Given the description of an element on the screen output the (x, y) to click on. 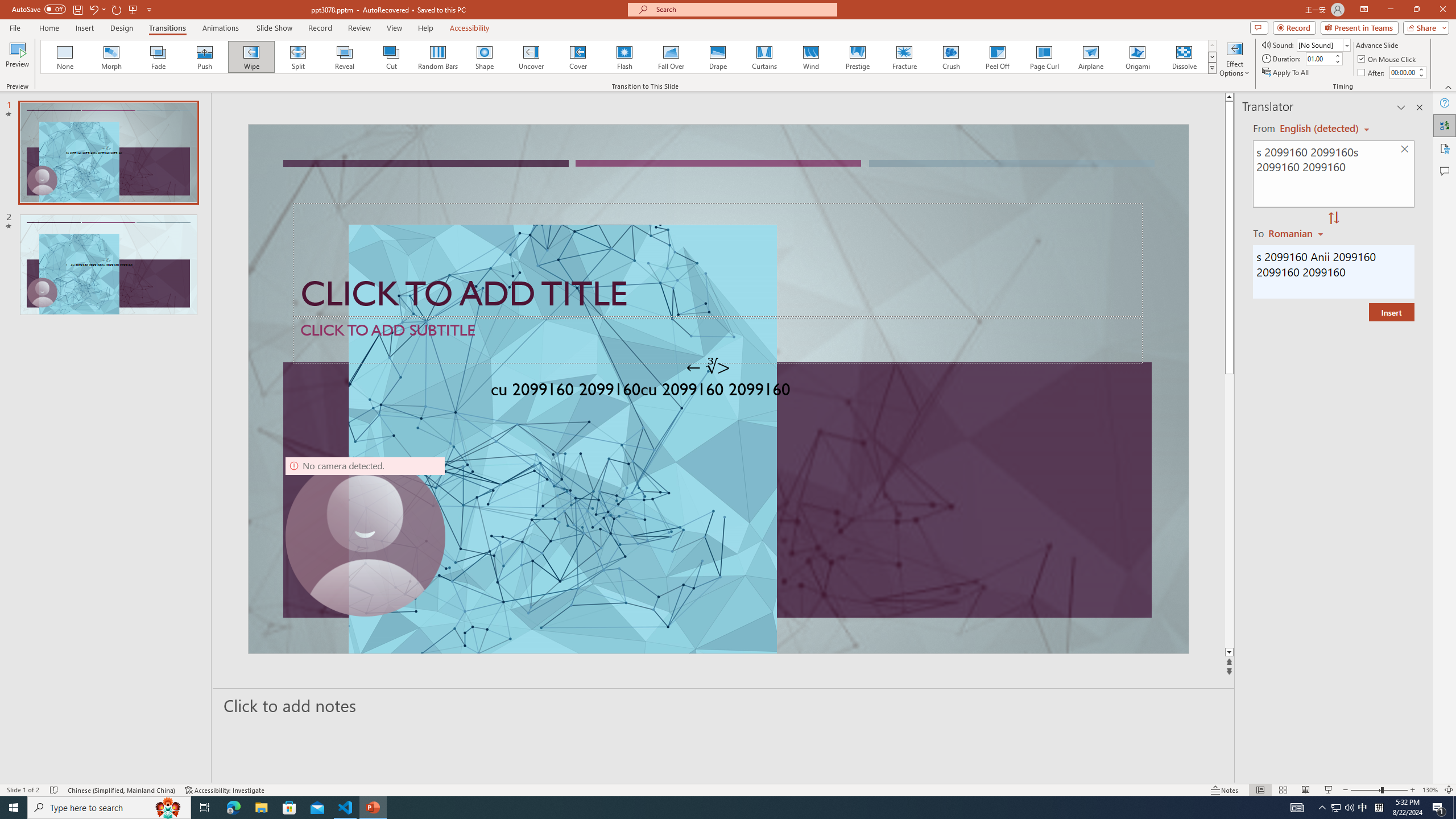
Prestige (857, 56)
Dissolve (1183, 56)
Push (205, 56)
